Given the description of an element on the screen output the (x, y) to click on. 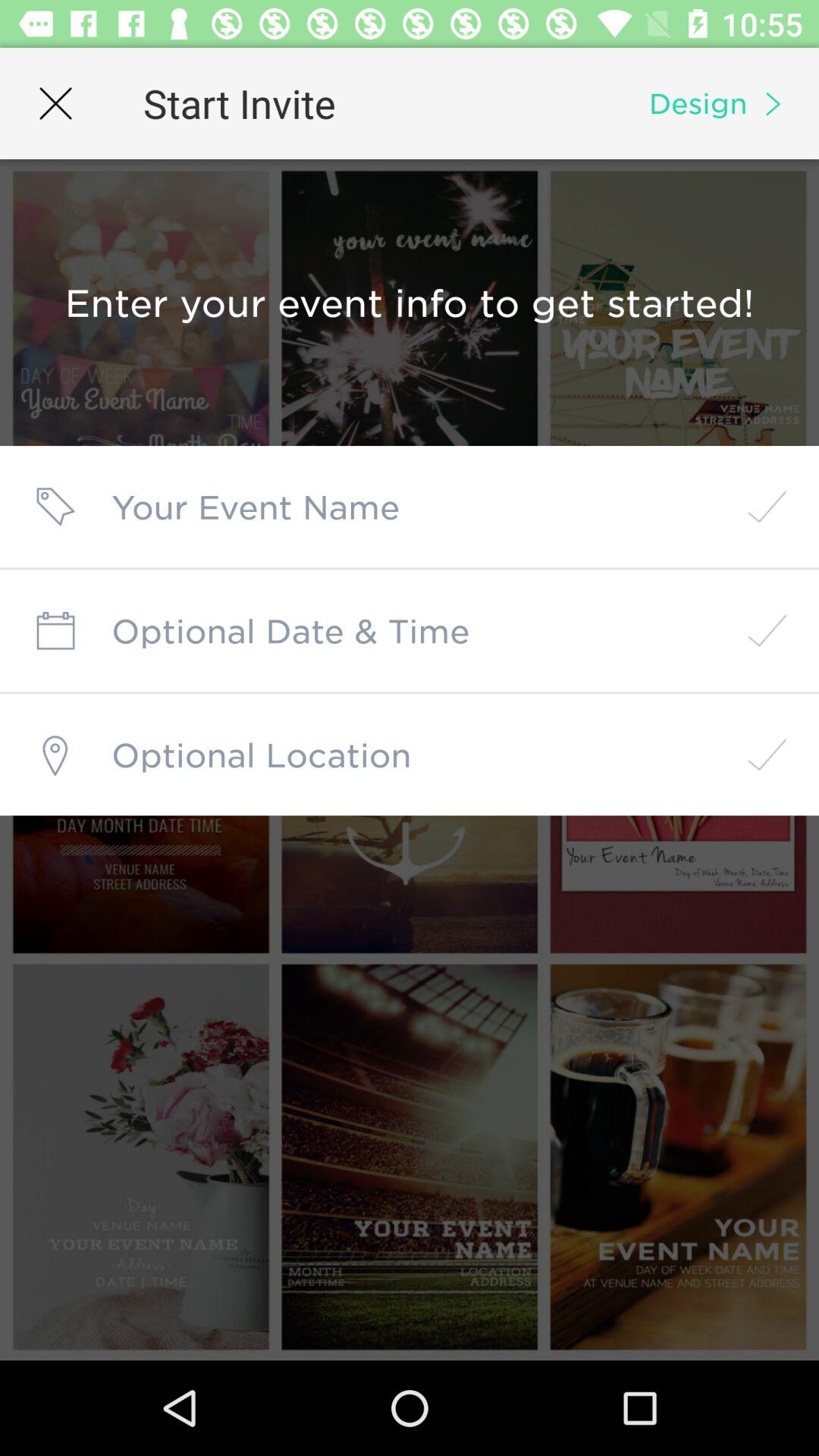
tap icon next to start invite (55, 103)
